Given the description of an element on the screen output the (x, y) to click on. 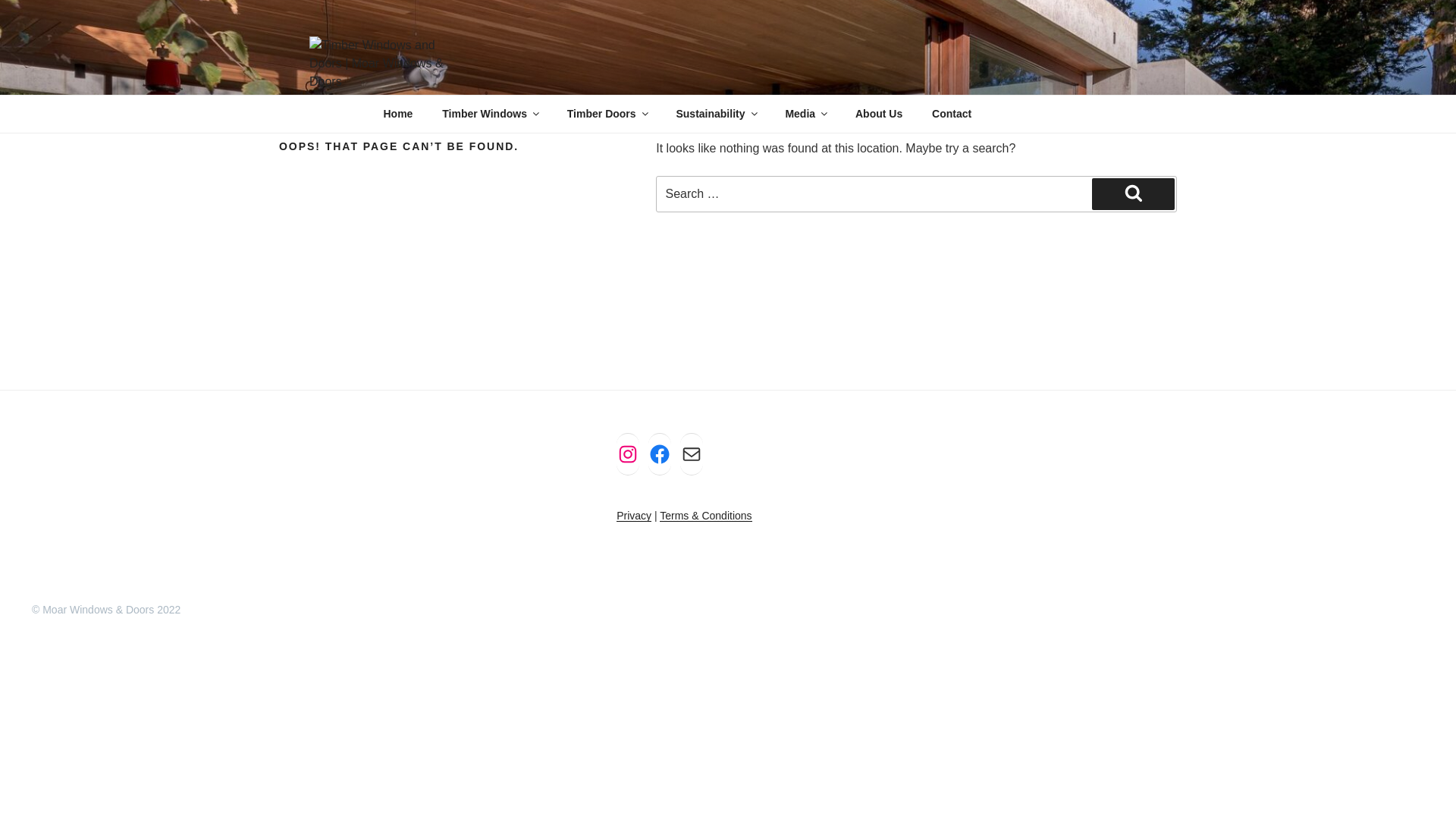
Facebook Element type: text (659, 453)
Instagram Element type: text (627, 453)
Home Element type: text (398, 113)
Sustainability Element type: text (715, 113)
Search Element type: text (1133, 194)
TIMBER WINDOWS AND DOORS | MOAR WINDOWS & DOORS Element type: text (705, 130)
Mail Element type: text (691, 453)
Terms & Conditions Element type: text (705, 515)
Privacy Element type: text (633, 515)
Contact Element type: text (952, 113)
Timber Windows Element type: text (490, 113)
Timber Doors Element type: text (606, 113)
About Us Element type: text (878, 113)
Media Element type: text (805, 113)
